Given the description of an element on the screen output the (x, y) to click on. 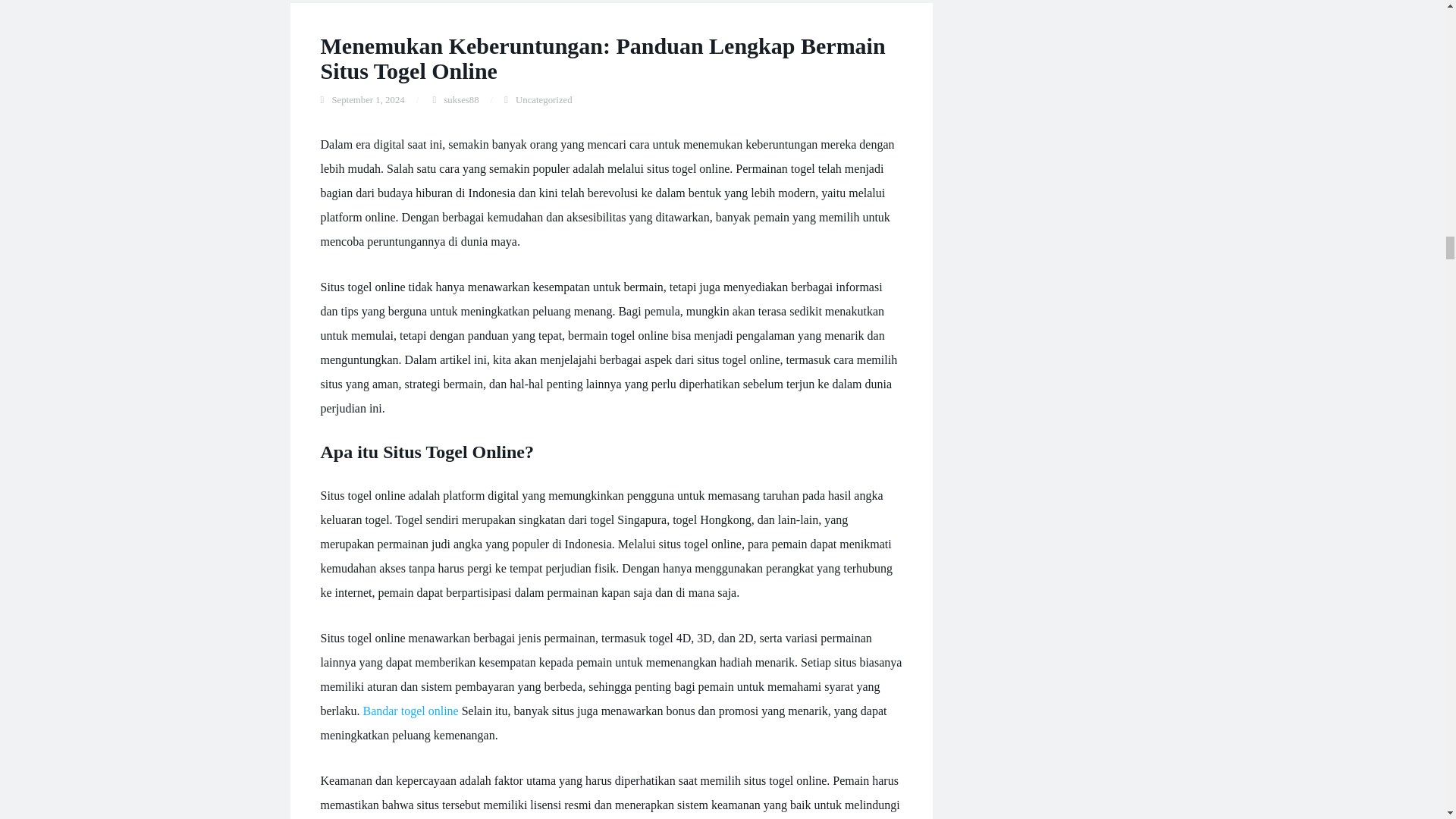
sukses88 (461, 100)
Bandar togel online (410, 710)
Uncategorized (543, 100)
September 1, 2024 (367, 100)
